Given the description of an element on the screen output the (x, y) to click on. 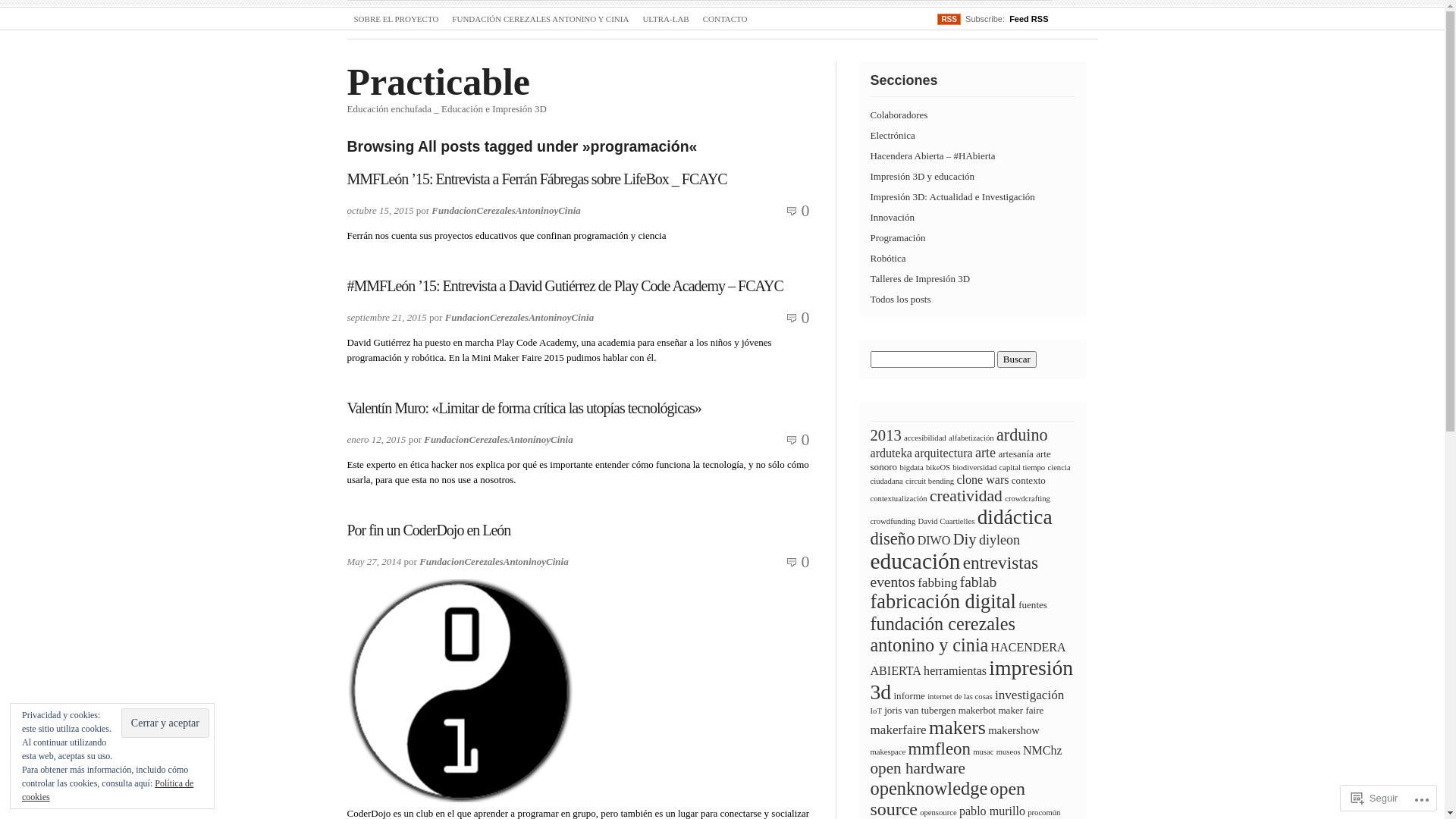
ULTRA-LAB Element type: text (665, 19)
fabbing Element type: text (937, 582)
crowdcrafting Element type: text (1027, 498)
Todos los posts Element type: text (900, 298)
Practicable Element type: text (438, 81)
opensource Element type: text (938, 812)
museos Element type: text (1008, 751)
DIWO Element type: text (933, 539)
Diy Element type: text (964, 538)
arduteka Element type: text (891, 452)
biodiversidad Element type: text (974, 467)
creatividad Element type: text (965, 495)
FundacionCerezalesAntoninoyCinia Element type: text (498, 439)
clone wars Element type: text (982, 479)
SOBRE EL PROYECTO Element type: text (396, 19)
FundacionCerezalesAntoninoyCinia Element type: text (519, 317)
Colaboradores Element type: text (899, 114)
accesibilidad Element type: text (924, 437)
makershow Element type: text (1013, 730)
NMChz Element type: text (1042, 749)
0 Element type: text (804, 316)
diyleon Element type: text (999, 539)
HACENDERA ABIERTA Element type: text (967, 658)
crowdfunding Element type: text (893, 521)
CONTACTO Element type: text (725, 19)
makers Element type: text (956, 727)
arquitectura Element type: text (943, 452)
internet de las cosas Element type: text (959, 696)
IoT Element type: text (875, 710)
2013 Element type: text (885, 434)
entrevistas Element type: text (1000, 562)
arte sonoro Element type: text (960, 460)
maker faire Element type: text (1020, 709)
eventos Element type: text (892, 581)
arduino Element type: text (1022, 434)
bikeOS Element type: text (937, 467)
bigdata Element type: text (910, 467)
0 Element type: text (804, 438)
FundacionCerezalesAntoninoyCinia Element type: text (505, 210)
contexto Element type: text (1028, 480)
0 Element type: text (804, 561)
makerfaire Element type: text (898, 729)
Cerrar y aceptar Element type: text (165, 722)
makerbot Element type: text (976, 709)
fablab Element type: text (978, 581)
Seguir Element type: text (1374, 797)
RSS Element type: text (948, 18)
ciencia ciudadana Element type: text (970, 474)
pablo murillo Element type: text (992, 810)
arte Element type: text (985, 452)
fuentes Element type: text (1032, 604)
David Cuartielles Element type: text (946, 521)
capital tiempo Element type: text (1022, 467)
makespace Element type: text (888, 751)
herramientas Element type: text (954, 670)
Buscar Element type: text (1016, 359)
FundacionCerezalesAntoninoyCinia Element type: text (493, 561)
openknowledge Element type: text (929, 788)
informe Element type: text (908, 695)
0 Element type: text (804, 209)
Feed RSS Element type: text (1028, 18)
open hardware Element type: text (917, 768)
mmfleon Element type: text (939, 748)
musac Element type: text (982, 751)
joris van tubergen Element type: text (919, 709)
circuit bending Element type: text (929, 480)
